Given the description of an element on the screen output the (x, y) to click on. 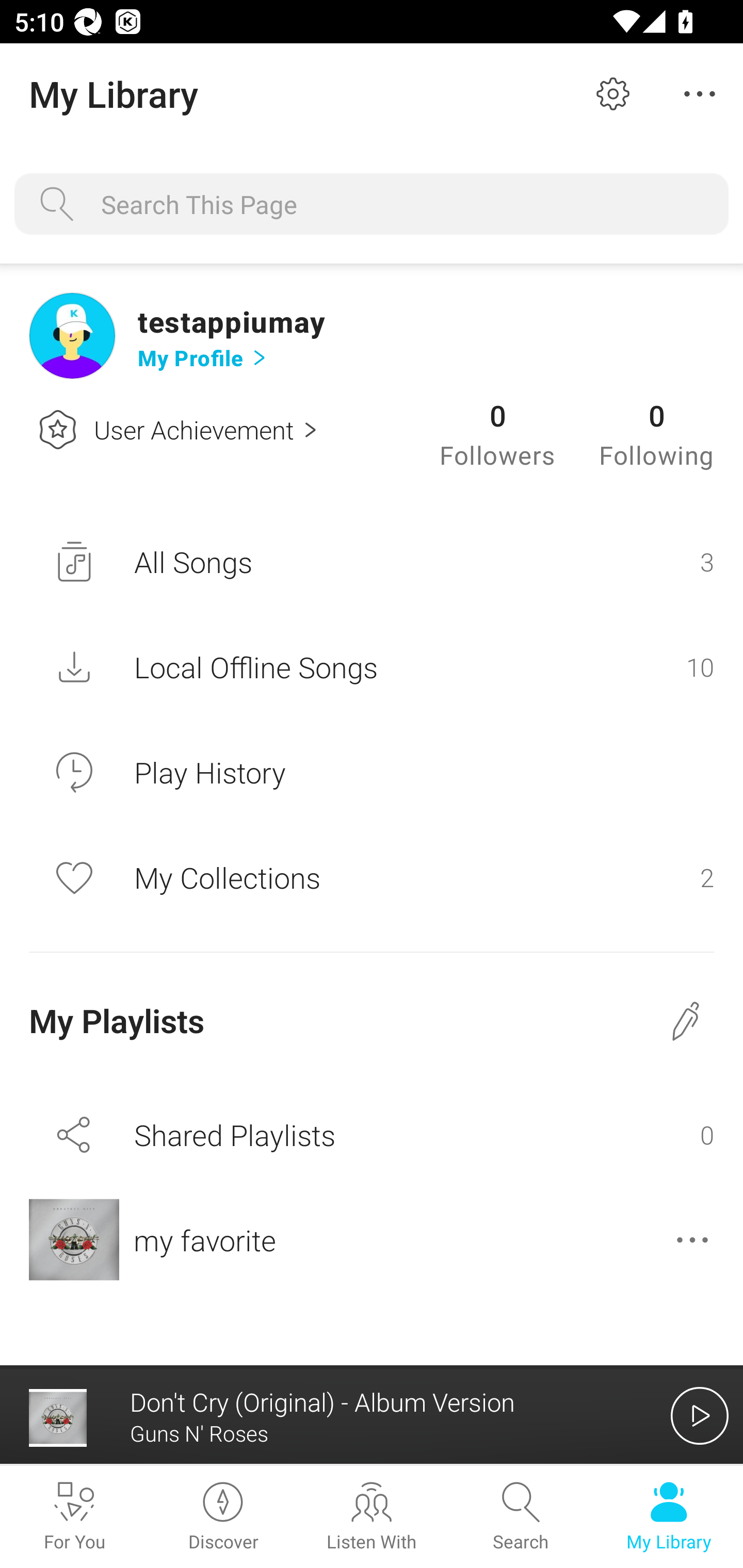
More (612, 93)
Edit (699, 93)
Search This Page (407, 204)
testappiumay My Profile (425, 336)
User Achievement (172, 429)
0 Followers (497, 433)
0 Following (656, 433)
All Songs 3 (371, 561)
Local Offline Songs 10 (371, 666)
Play History (371, 771)
My Collections 2 (371, 876)
Shared Playlists 0 (371, 1133)
開始播放 (699, 1415)
For You (74, 1517)
Discover (222, 1517)
Listen With (371, 1517)
Search (519, 1517)
My Library (668, 1517)
